Given the description of an element on the screen output the (x, y) to click on. 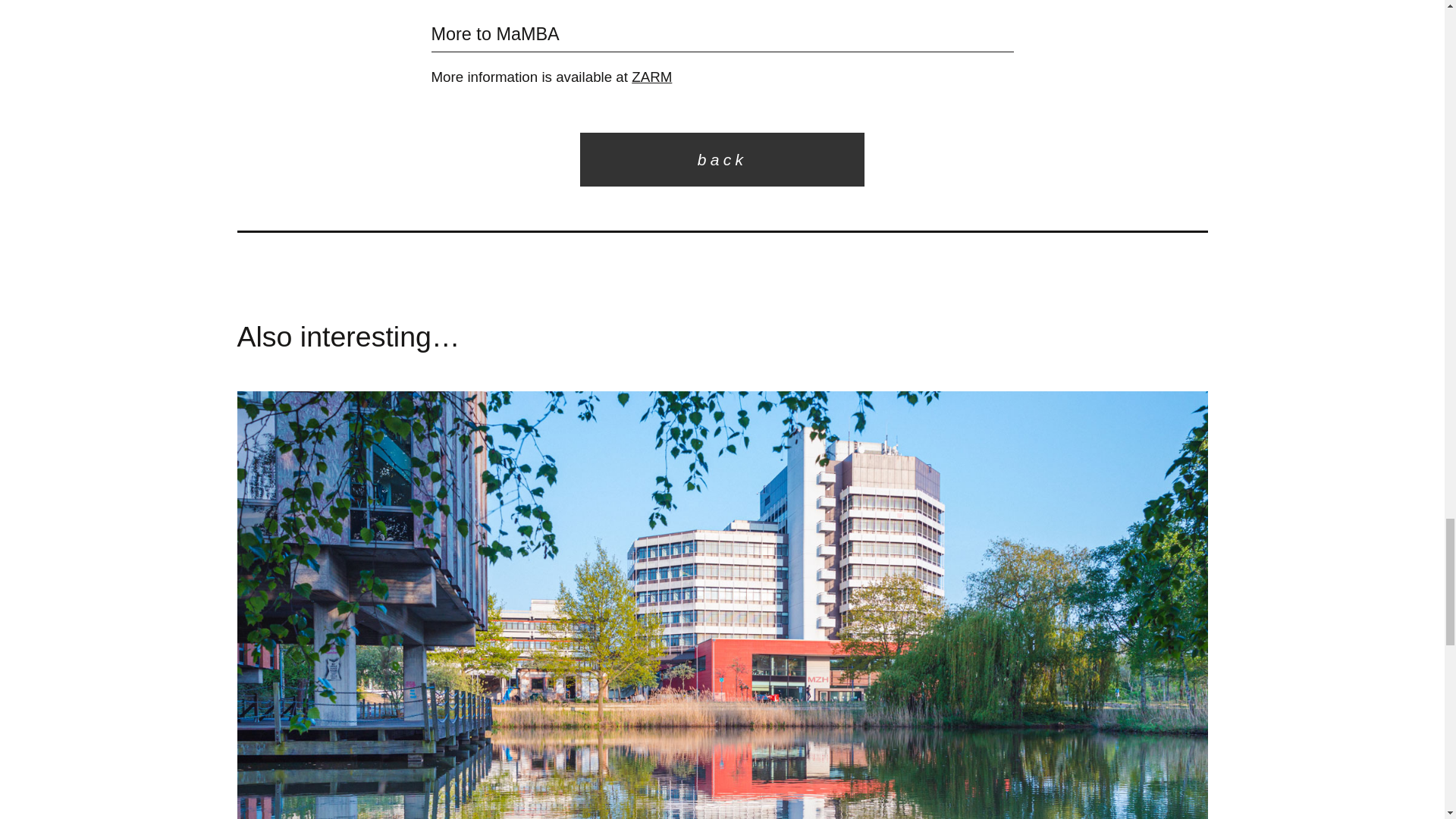
back (721, 159)
ZARM (651, 76)
